Given the description of an element on the screen output the (x, y) to click on. 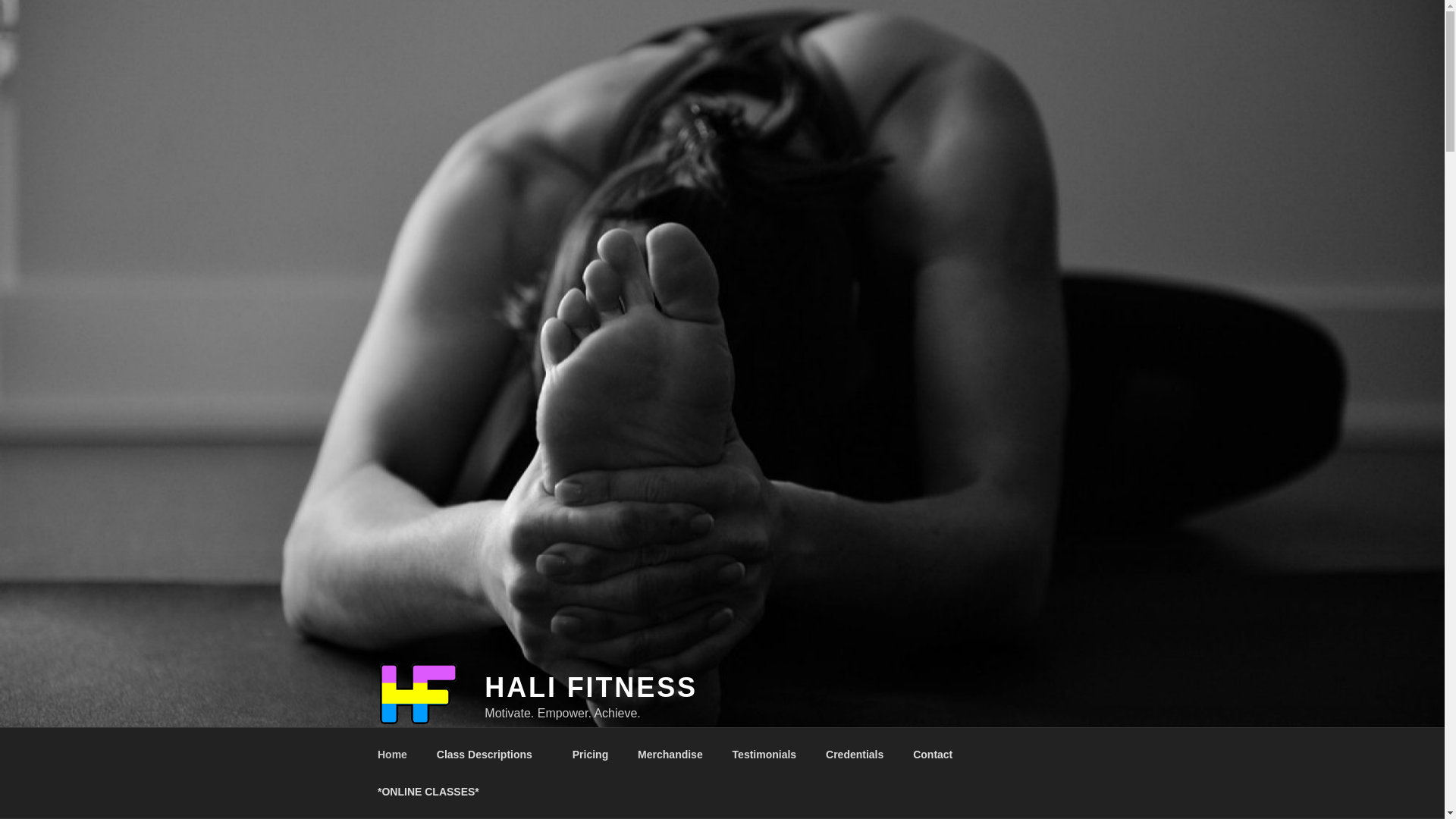
Scroll down to content (1082, 754)
Class Descriptions (489, 754)
HALI FITNESS (590, 686)
Testimonials (764, 754)
Merchandise (670, 754)
Contact (937, 754)
Scroll down to content (1082, 754)
Home (392, 754)
Credentials (854, 754)
Pricing (590, 754)
